Given the description of an element on the screen output the (x, y) to click on. 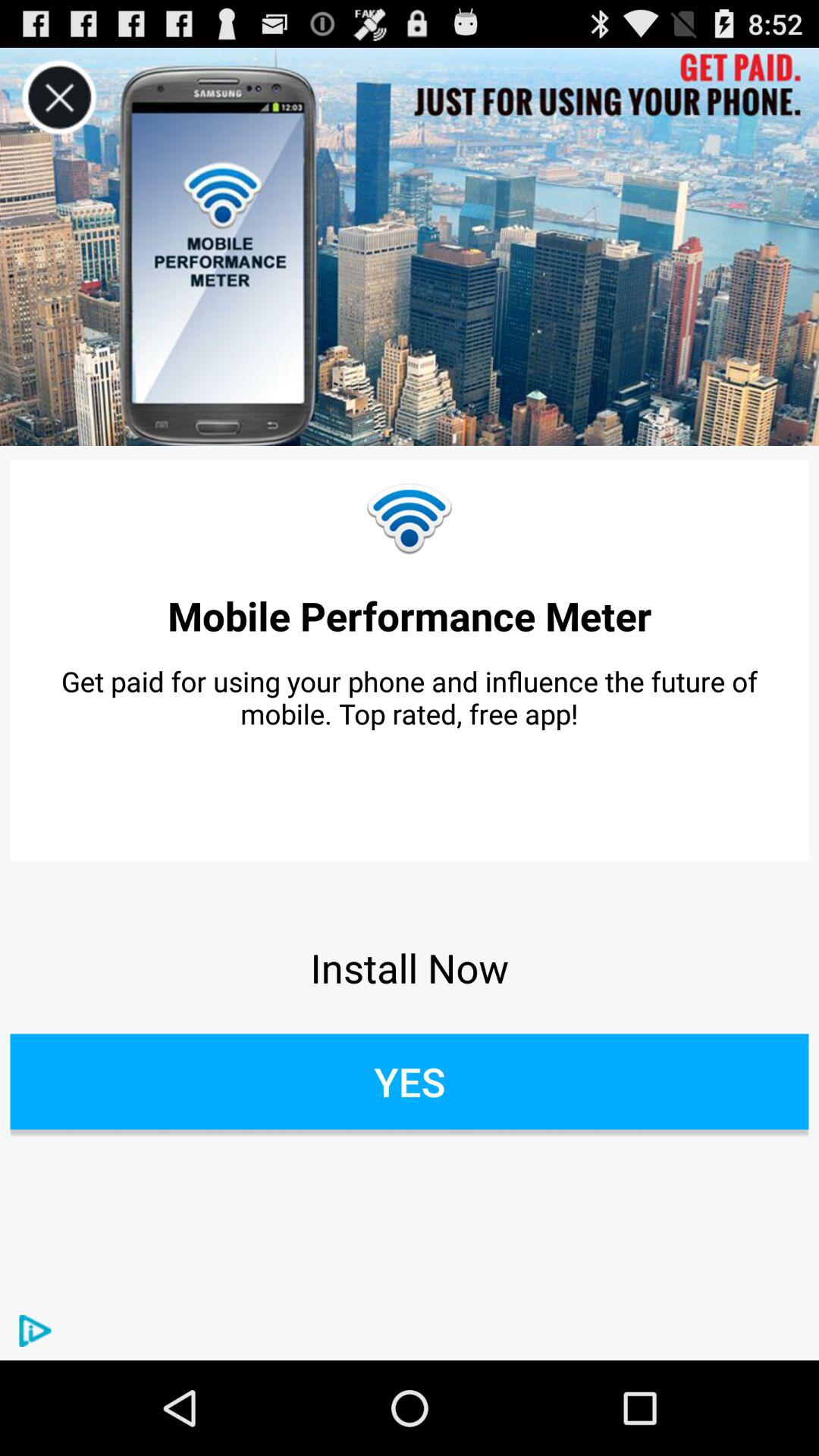
turn on icon at the top (409, 246)
